Given the description of an element on the screen output the (x, y) to click on. 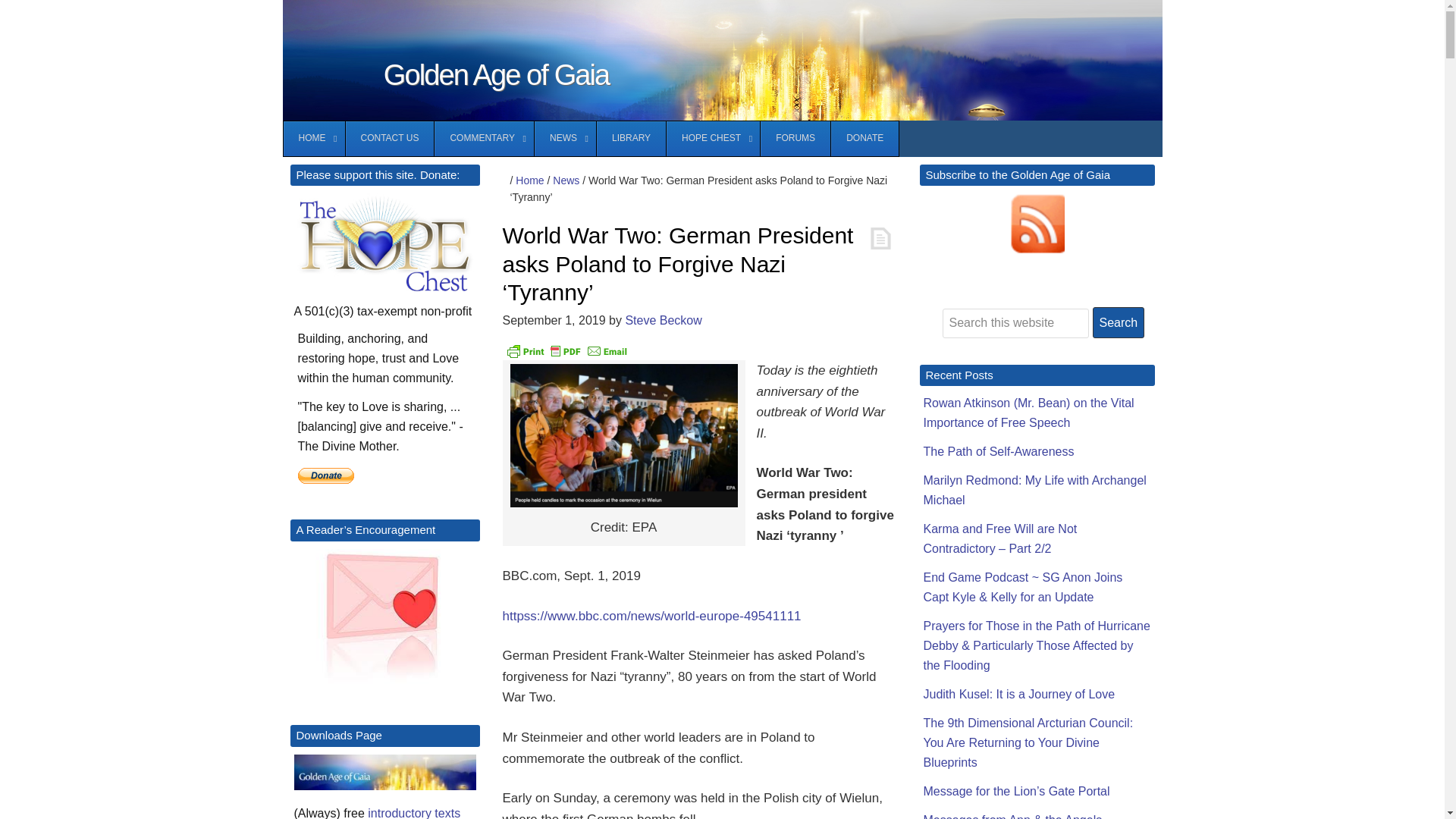
Search (1118, 322)
NEWS (564, 138)
HOPE CHEST (712, 138)
Home (529, 180)
FORUMS (794, 138)
News (566, 180)
Search (1118, 322)
DONATE (863, 138)
COMMENTARY (483, 138)
CONTACT US (388, 138)
